Given the description of an element on the screen output the (x, y) to click on. 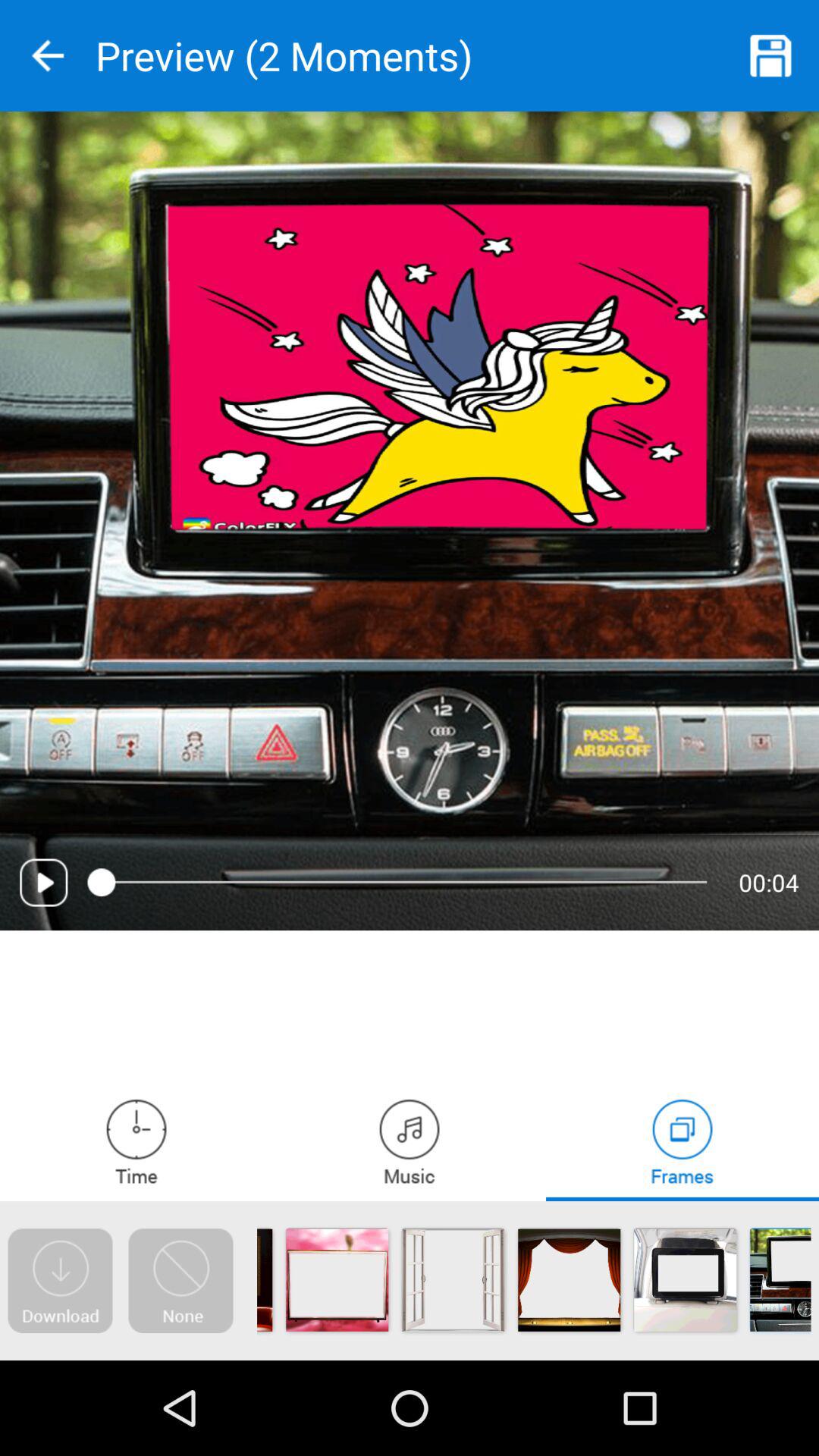
choose none (180, 1280)
